Given the description of an element on the screen output the (x, y) to click on. 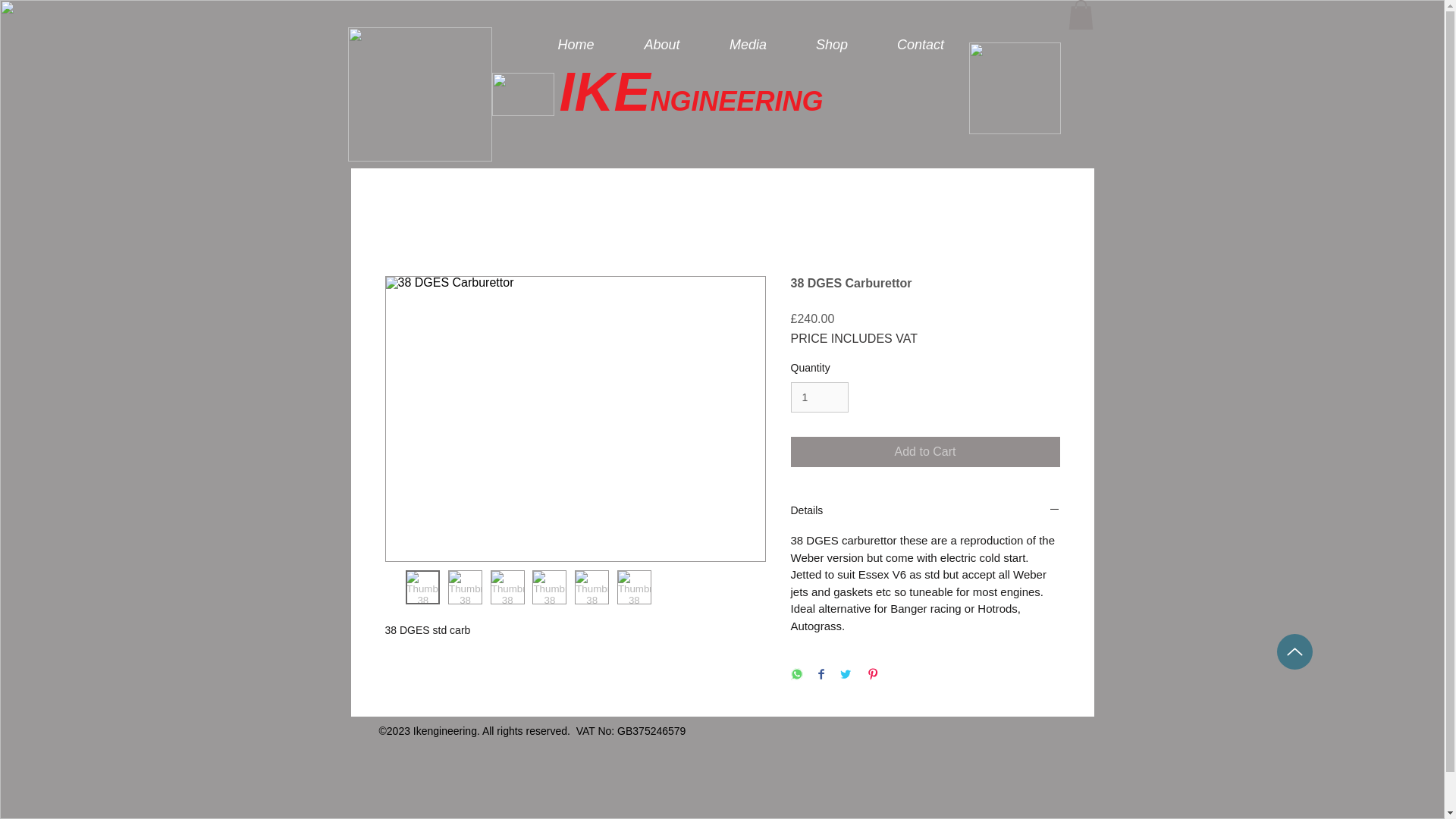
Home (575, 44)
Shop (832, 44)
About (661, 44)
Add to Cart (924, 451)
Details (924, 511)
Media (748, 44)
PRICE INCLUDES VAT (853, 338)
1 (818, 397)
Contact (920, 44)
